Given the description of an element on the screen output the (x, y) to click on. 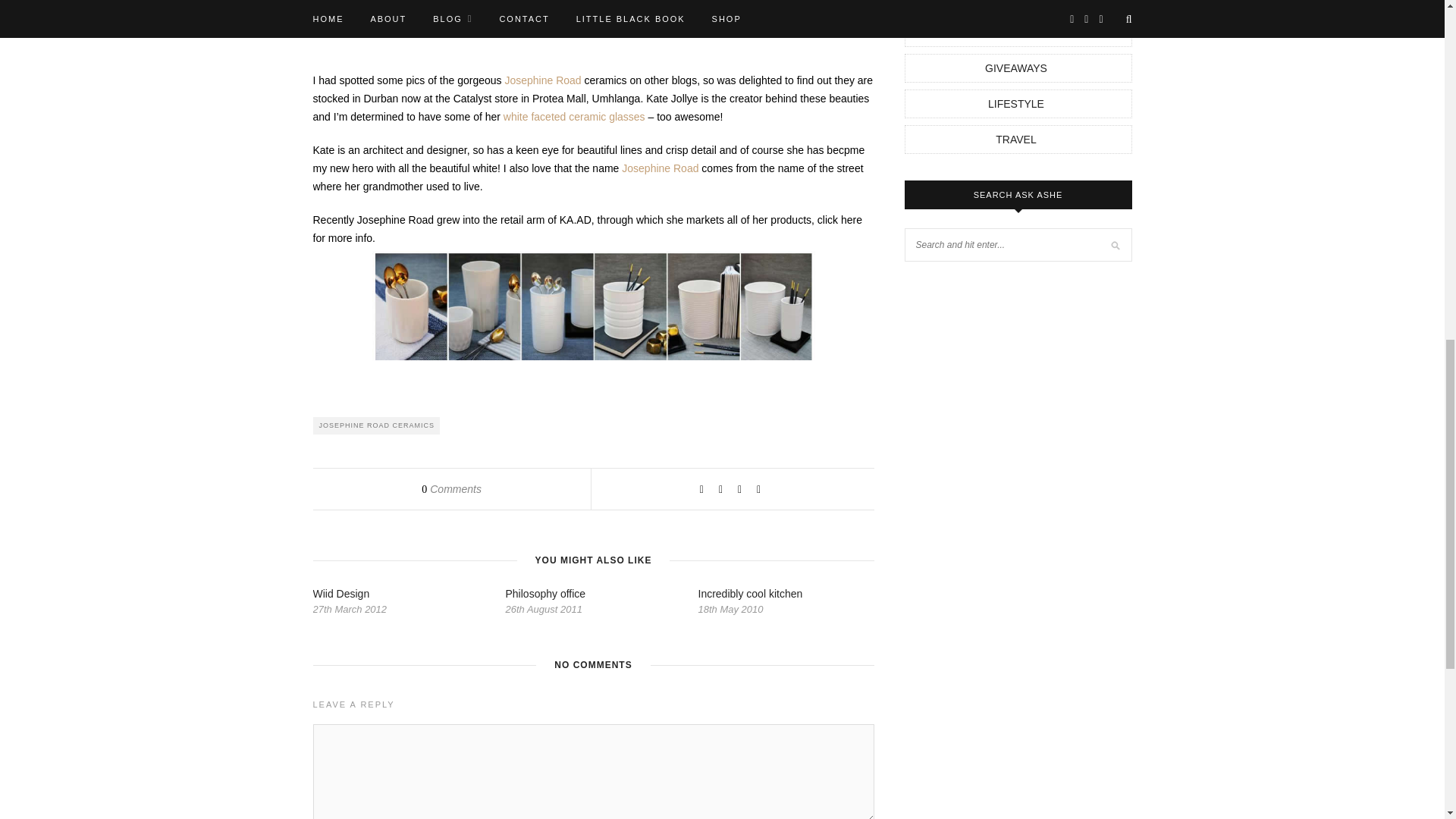
Josephine Road (661, 168)
Josephine Road (543, 80)
0 Comments (451, 489)
GIVEAWAYS (1015, 68)
LIFESTYLE (1015, 103)
Wiid Design (341, 593)
Philosophy office (545, 593)
JOSEPHINE ROAD CERAMICS (376, 425)
Incredibly cool kitchen (749, 593)
FEATURED IN (1016, 32)
white faceted ceramic glasses (575, 116)
TRAVEL (1015, 139)
